Given the description of an element on the screen output the (x, y) to click on. 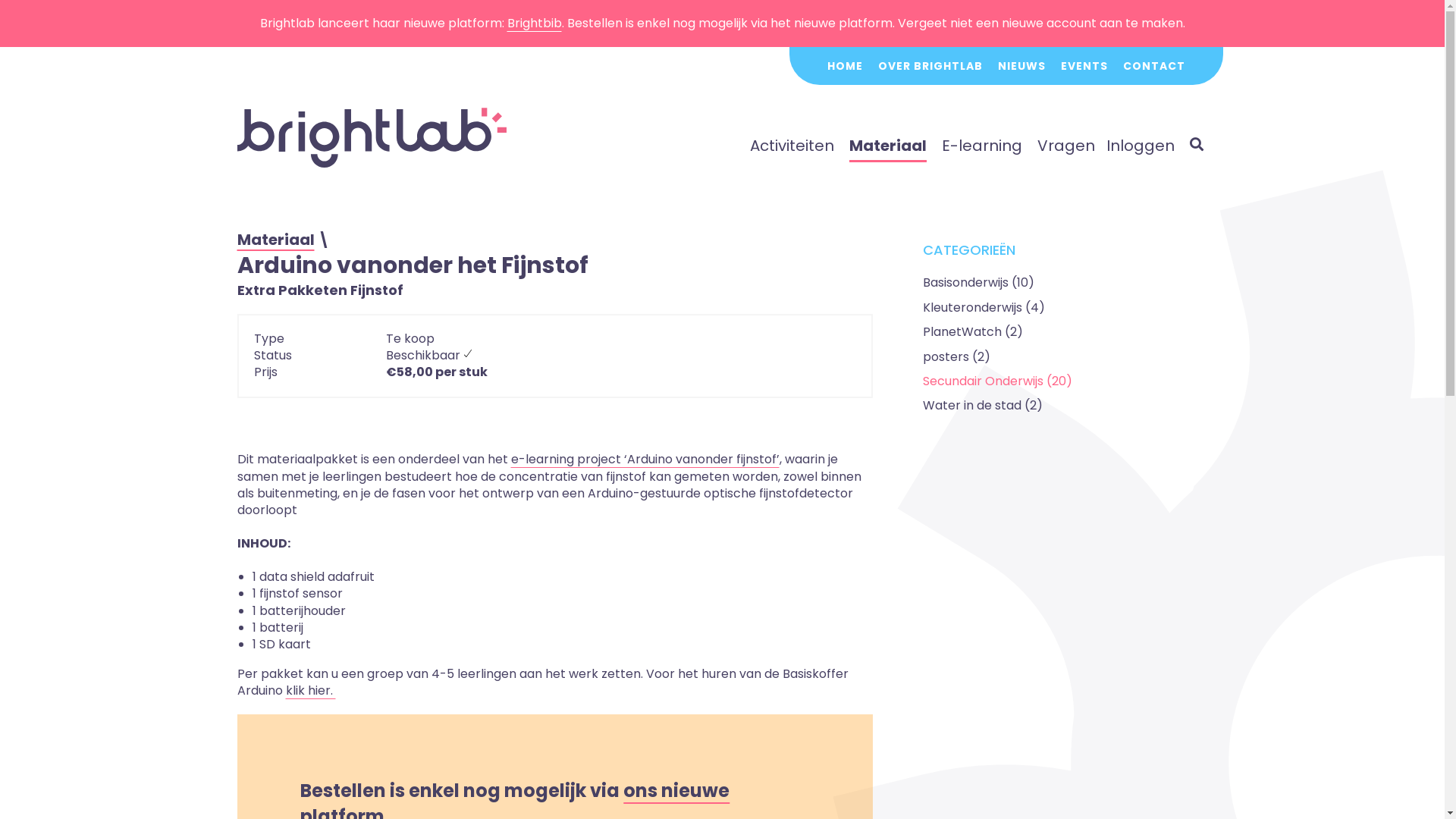
Activiteiten Element type: text (791, 145)
OVER BRIGHTLAB Element type: text (930, 65)
EVENTS Element type: text (1083, 65)
Water in de stad (2) Element type: text (981, 405)
Basisonderwijs (10) Element type: text (977, 282)
Materiaal Element type: text (274, 239)
klik hier.  Element type: text (310, 690)
Brightbib Element type: text (533, 22)
Secundair Onderwijs (20) Element type: text (996, 380)
Kleuteronderwijs (4) Element type: text (983, 307)
E-learning Element type: text (981, 145)
HOME Element type: text (844, 65)
Vragen Element type: text (1066, 145)
PlanetWatch (2) Element type: text (972, 331)
Inloggen Element type: text (1139, 145)
posters (2) Element type: text (955, 356)
CONTACT Element type: text (1153, 65)
Materiaal Element type: text (887, 145)
NIEUWS Element type: text (1021, 65)
